Given the description of an element on the screen output the (x, y) to click on. 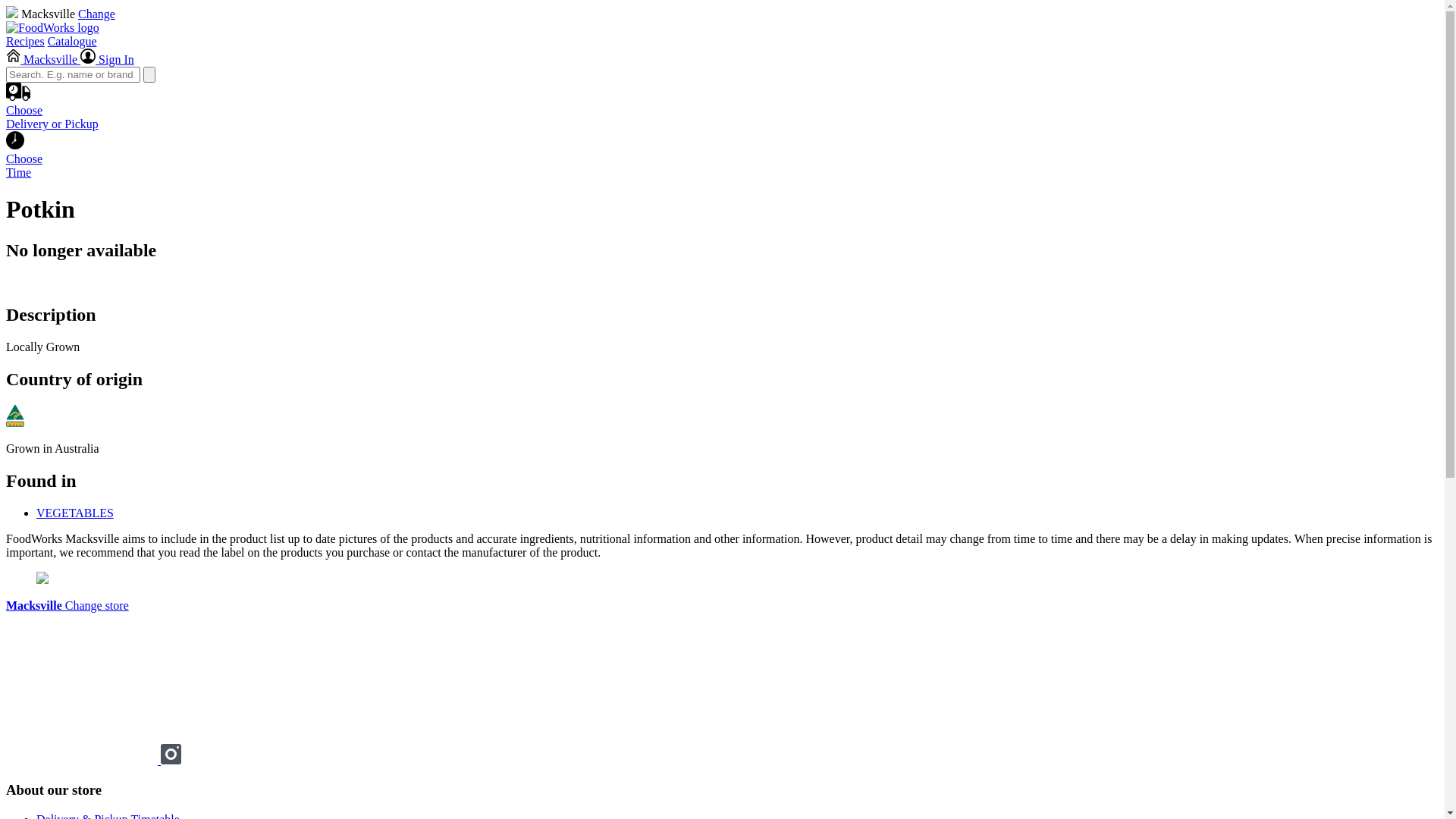
Sign In Element type: text (107, 59)
Instagram foodworks_aus Element type: hover (170, 759)
Choose
Time Element type: text (722, 158)
Catalogue Element type: text (72, 40)
Search Element type: hover (149, 74)
Macksville Element type: text (43, 59)
Choose
Delivery or Pickup Element type: text (722, 120)
Recipes Element type: text (25, 40)
Change Element type: text (96, 13)
VEGETABLES Element type: text (74, 512)
Facebook Element type: hover (83, 759)
Macksville Change store Element type: text (67, 605)
